Given the description of an element on the screen output the (x, y) to click on. 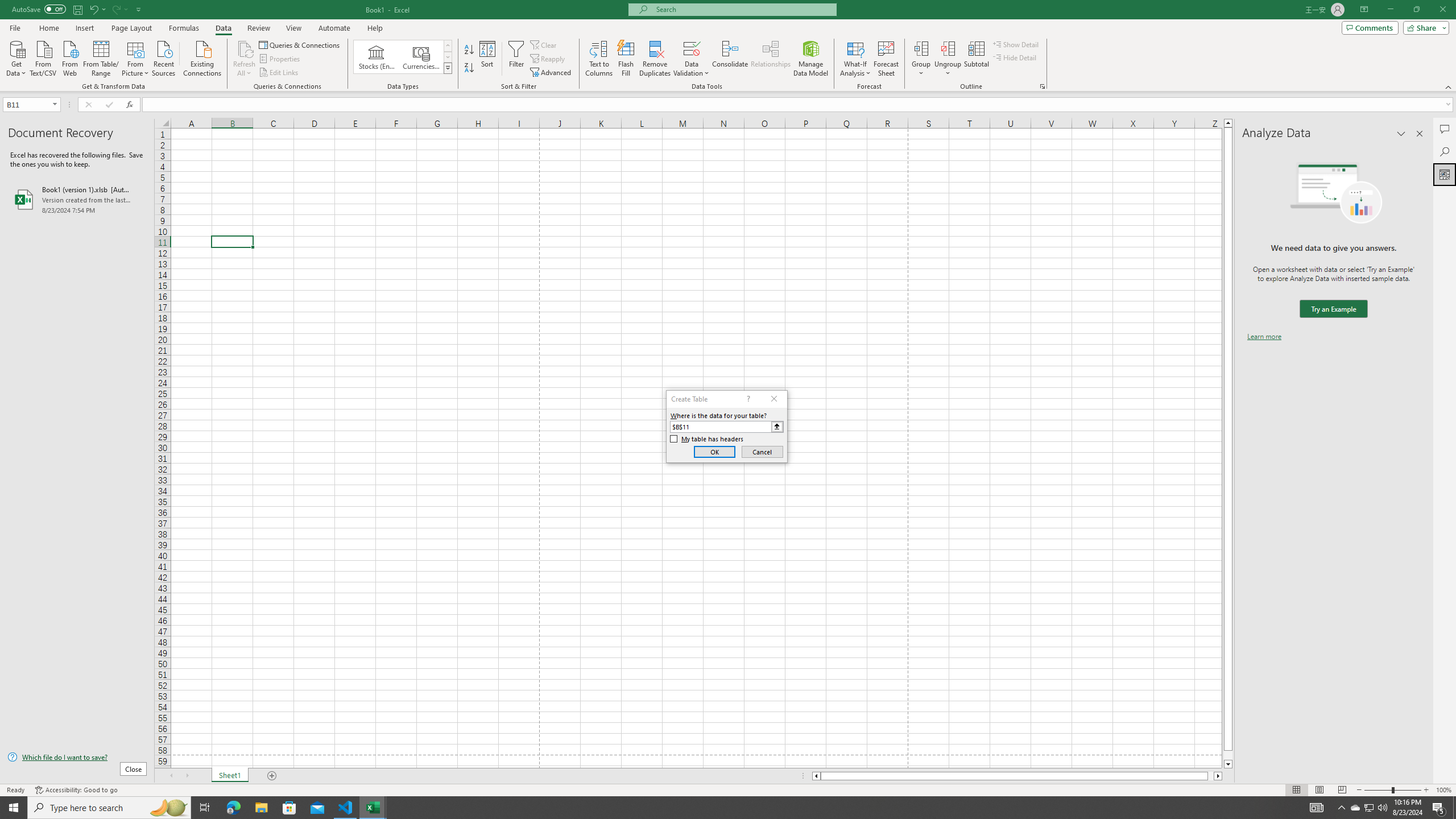
Group... (921, 48)
Page down (1228, 755)
Which file do I want to save? (77, 757)
Recent Sources (163, 57)
More Options (947, 68)
Column left (815, 775)
Page Break Preview (1342, 790)
Data Validation... (691, 58)
From Web (69, 57)
Formulas (184, 28)
Formula Bar (799, 104)
Review (258, 28)
Collapse the Ribbon (1448, 86)
